Given the description of an element on the screen output the (x, y) to click on. 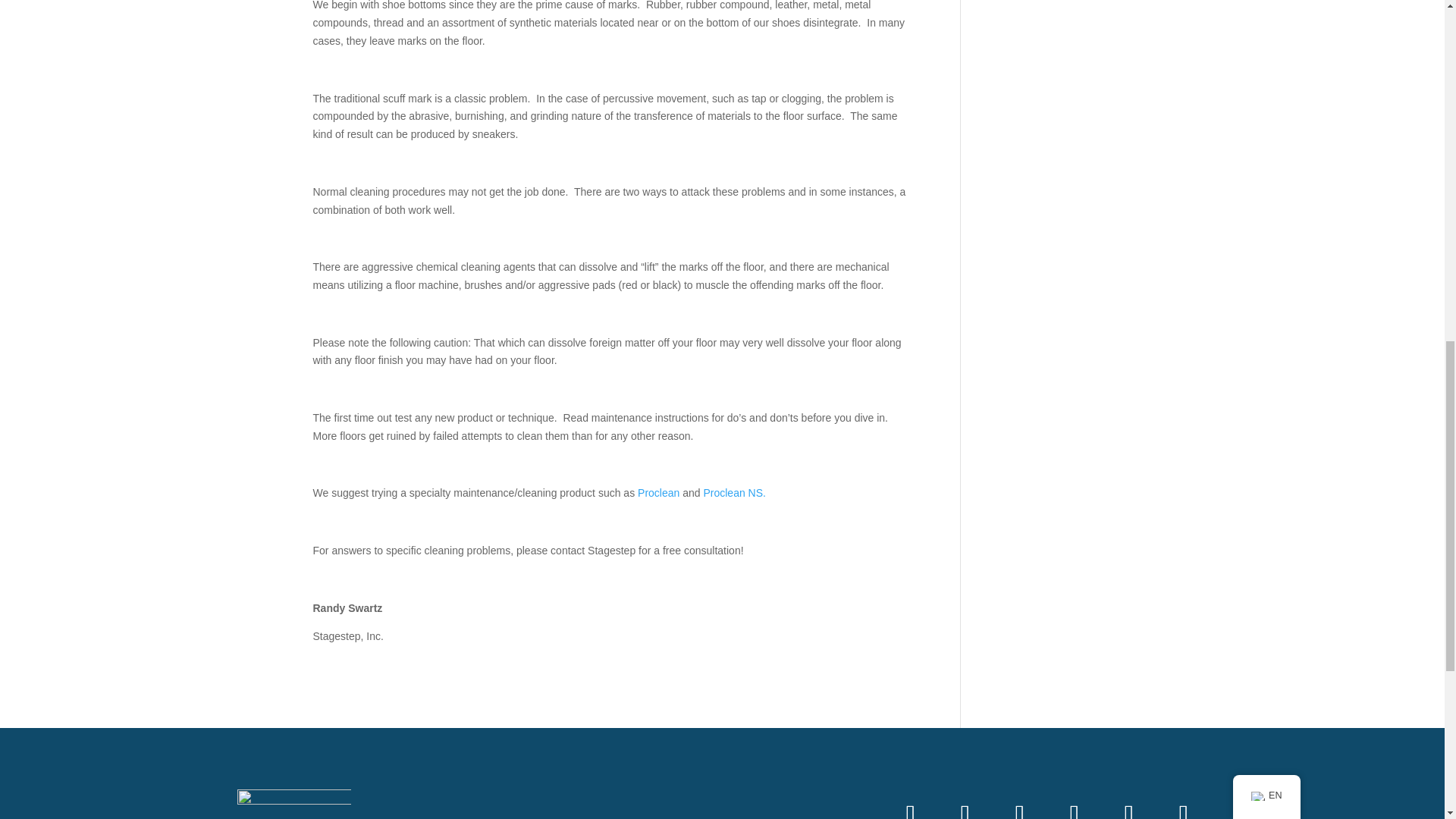
Follow on Youtube (909, 804)
Follow on Instagram (1018, 804)
Follow on LinkedIn (1182, 804)
Follow on Facebook (964, 804)
Follow on Pinterest (1128, 804)
Follow on X (1073, 804)
